Given the description of an element on the screen output the (x, y) to click on. 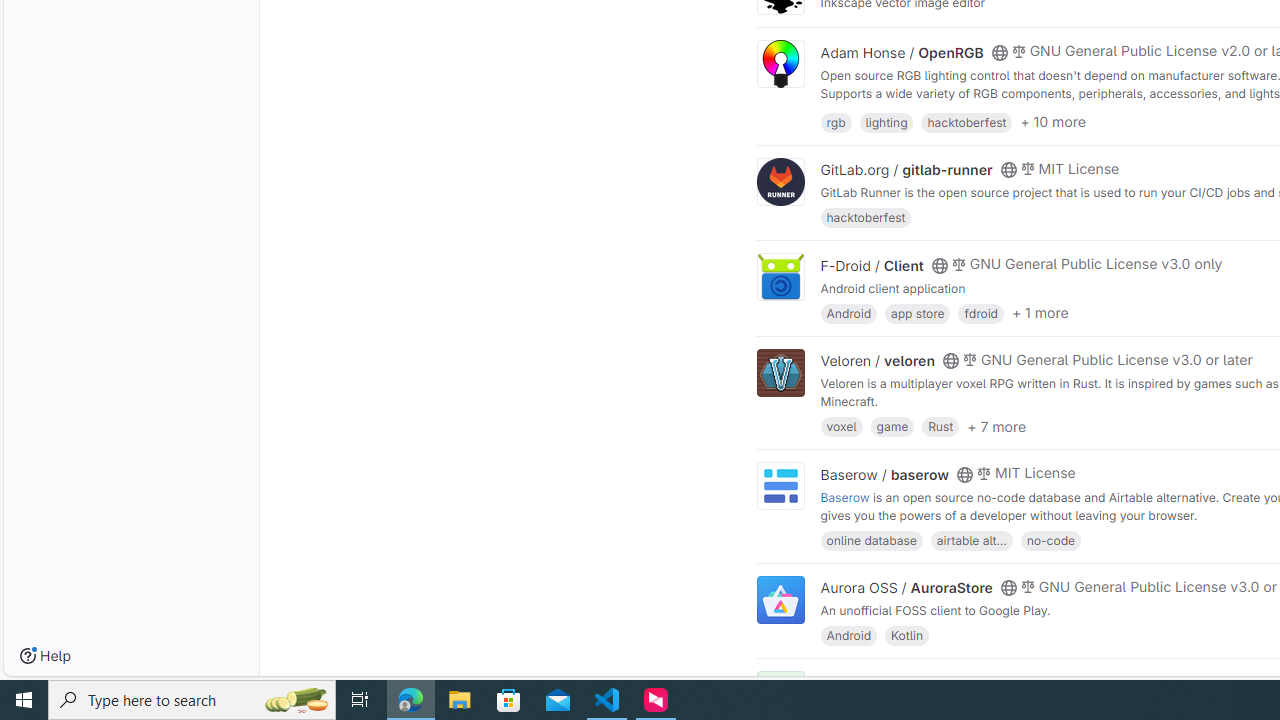
+ 1 more (1039, 313)
https://openrgb.org (989, 110)
fdroid (980, 312)
F (780, 695)
F-Droid / Client (872, 265)
Class: s16 (999, 683)
Baserow (845, 496)
Class: s14 gl-mr-2 (1018, 681)
Adam Honse / OpenRGB (902, 52)
hacktoberfest (866, 217)
Veloren / veloren (877, 361)
online database (871, 539)
Rust (940, 426)
app store (917, 312)
